Given the description of an element on the screen output the (x, y) to click on. 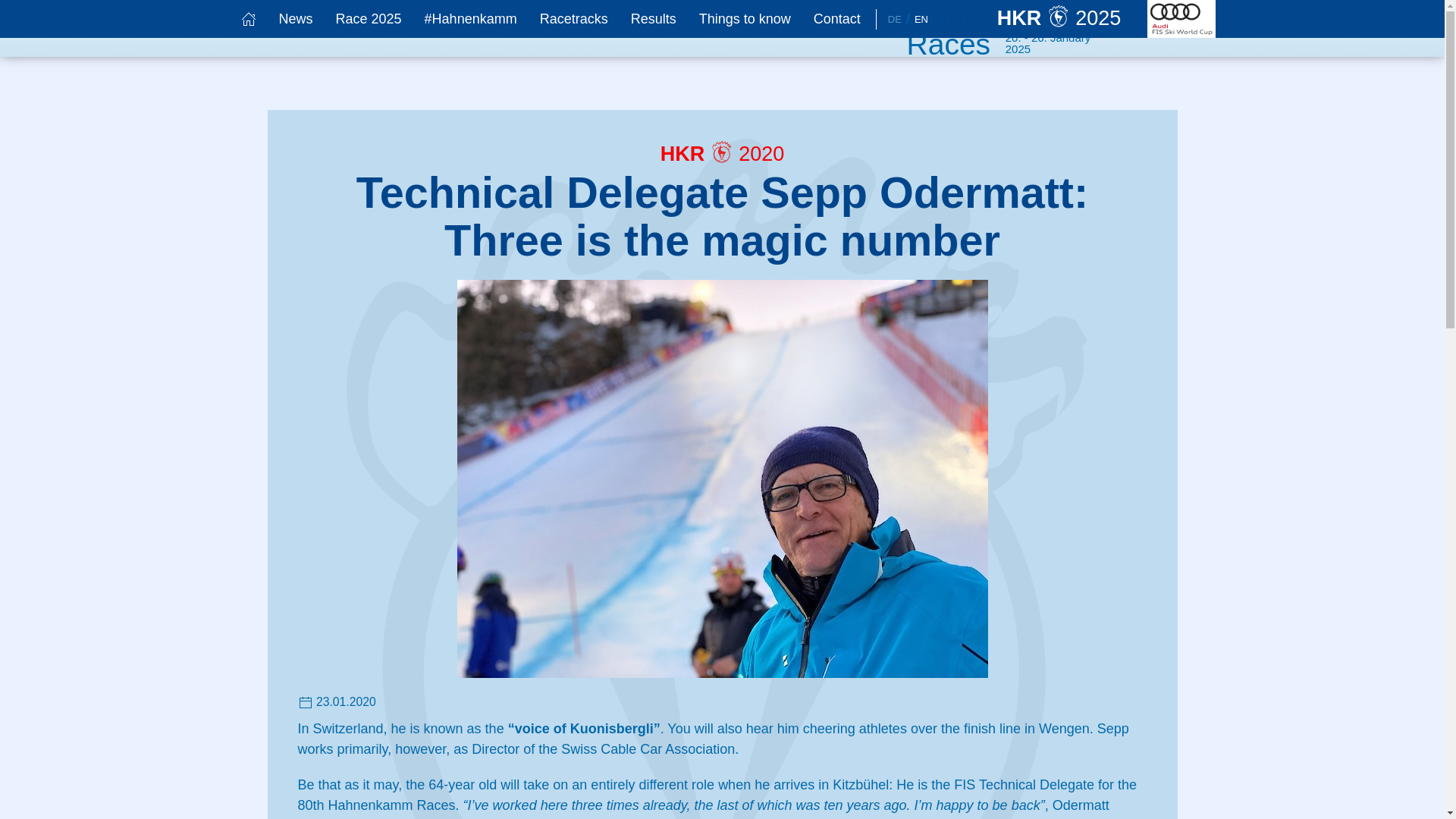
Race 2025 (368, 18)
Things to know (744, 18)
EN (921, 19)
Results (653, 18)
News (294, 18)
Home (247, 18)
Contact (837, 18)
DE (894, 19)
Home (1072, 18)
Contact (837, 18)
